Given the description of an element on the screen output the (x, y) to click on. 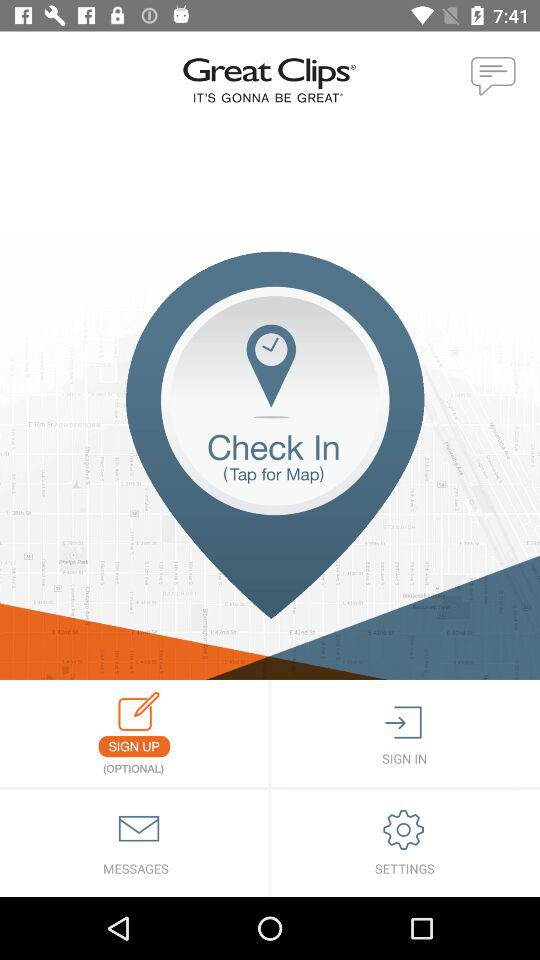
go to messages (134, 843)
